Given the description of an element on the screen output the (x, y) to click on. 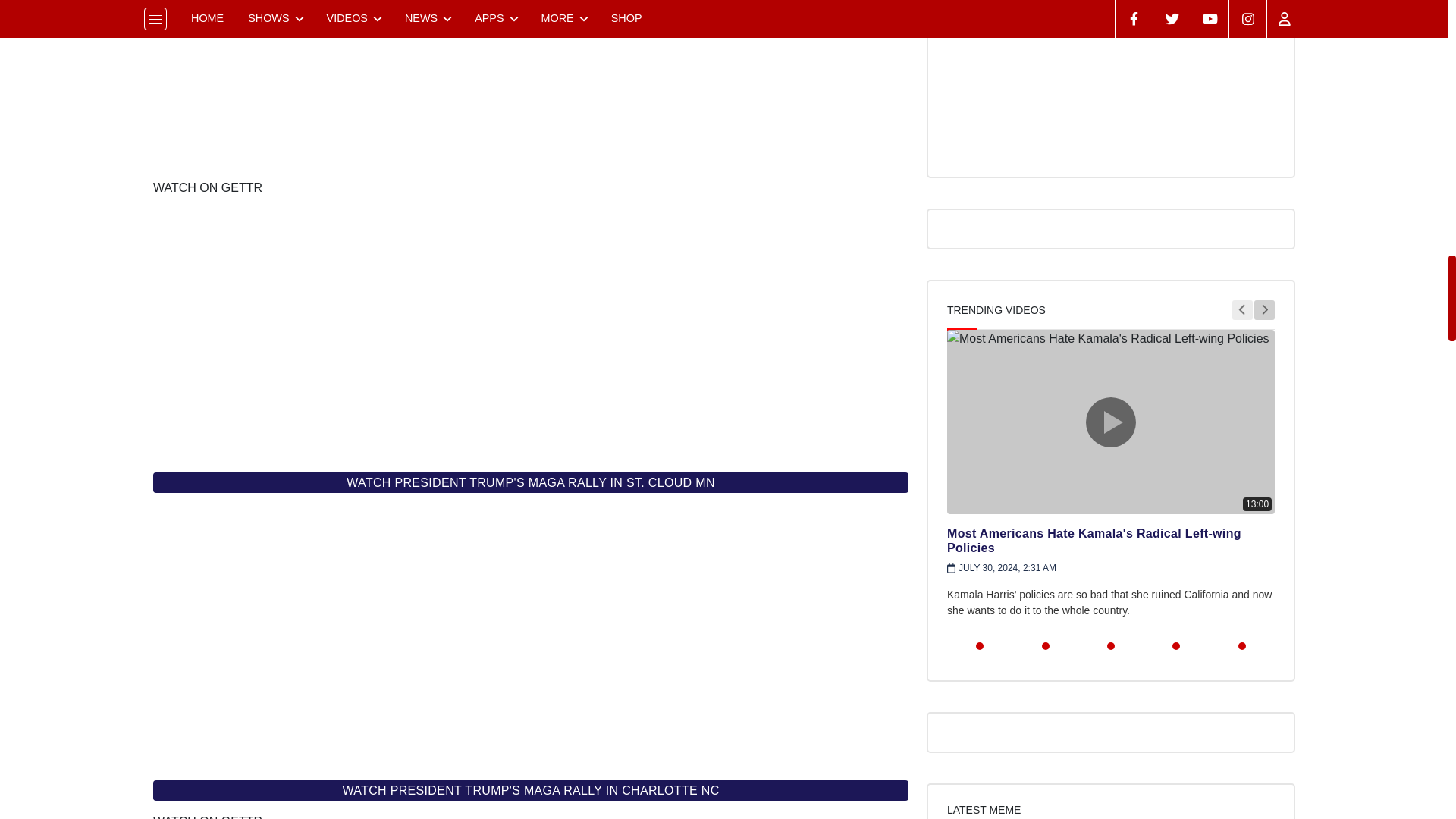
Widget iframe (530, 86)
